Given the description of an element on the screen output the (x, y) to click on. 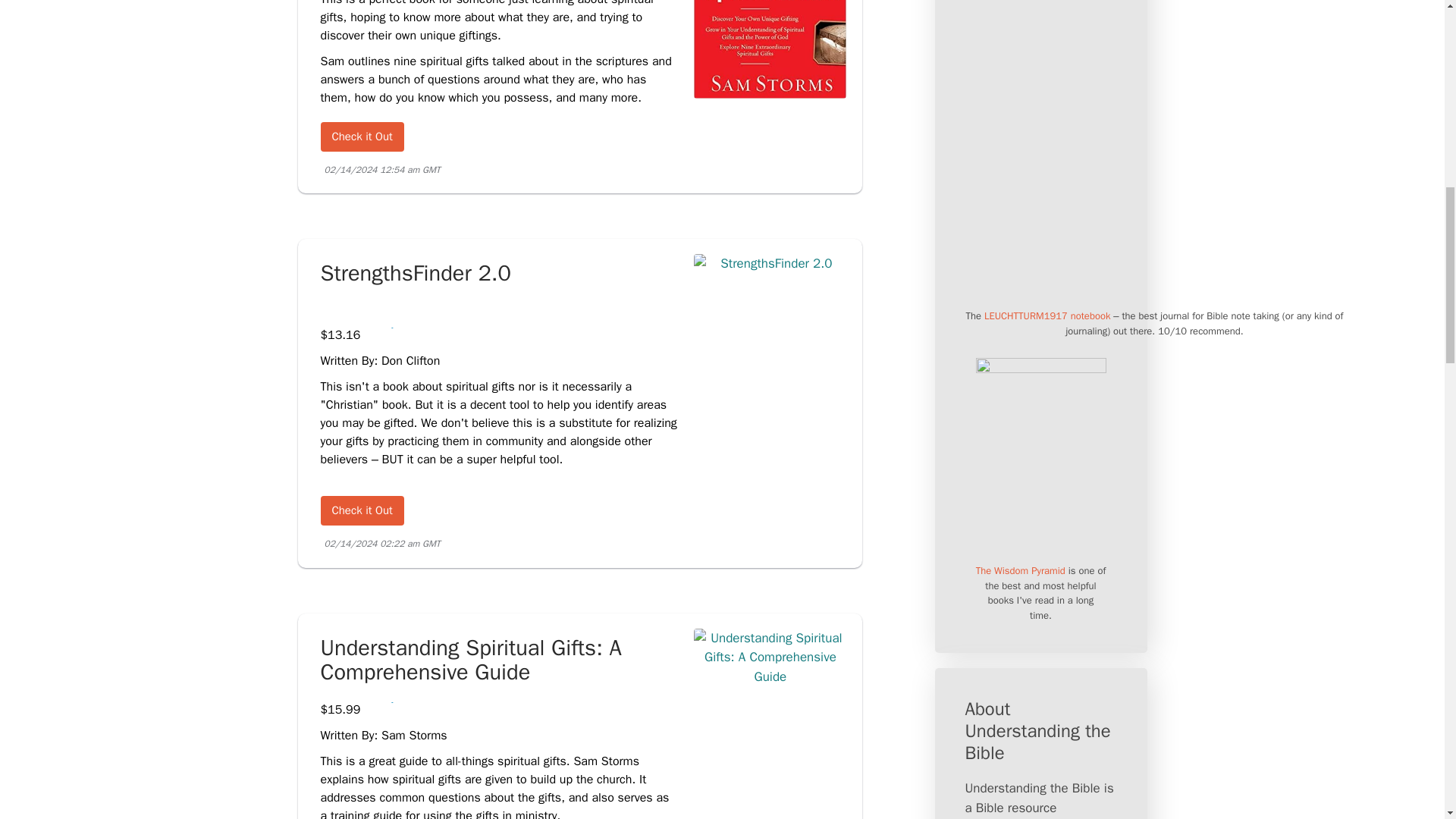
The Beginner's Guide to Spiritual Gifts (769, 97)
The Beginner's Guide to Spiritual Gifts (361, 136)
Understanding Spiritual Gifts: A Comprehensive Guide (499, 660)
Understanding Spiritual Gifts: A Comprehensive Guide (499, 660)
Understanding Spiritual Gifts: A Comprehensive Guide (769, 680)
StrengthsFinder 2.0 (499, 286)
Check it Out (361, 136)
StrengthsFinder 2.0 (361, 510)
Check it Out (361, 510)
StrengthsFinder 2.0 (499, 286)
StrengthsFinder 2.0 (769, 267)
